Given the description of an element on the screen output the (x, y) to click on. 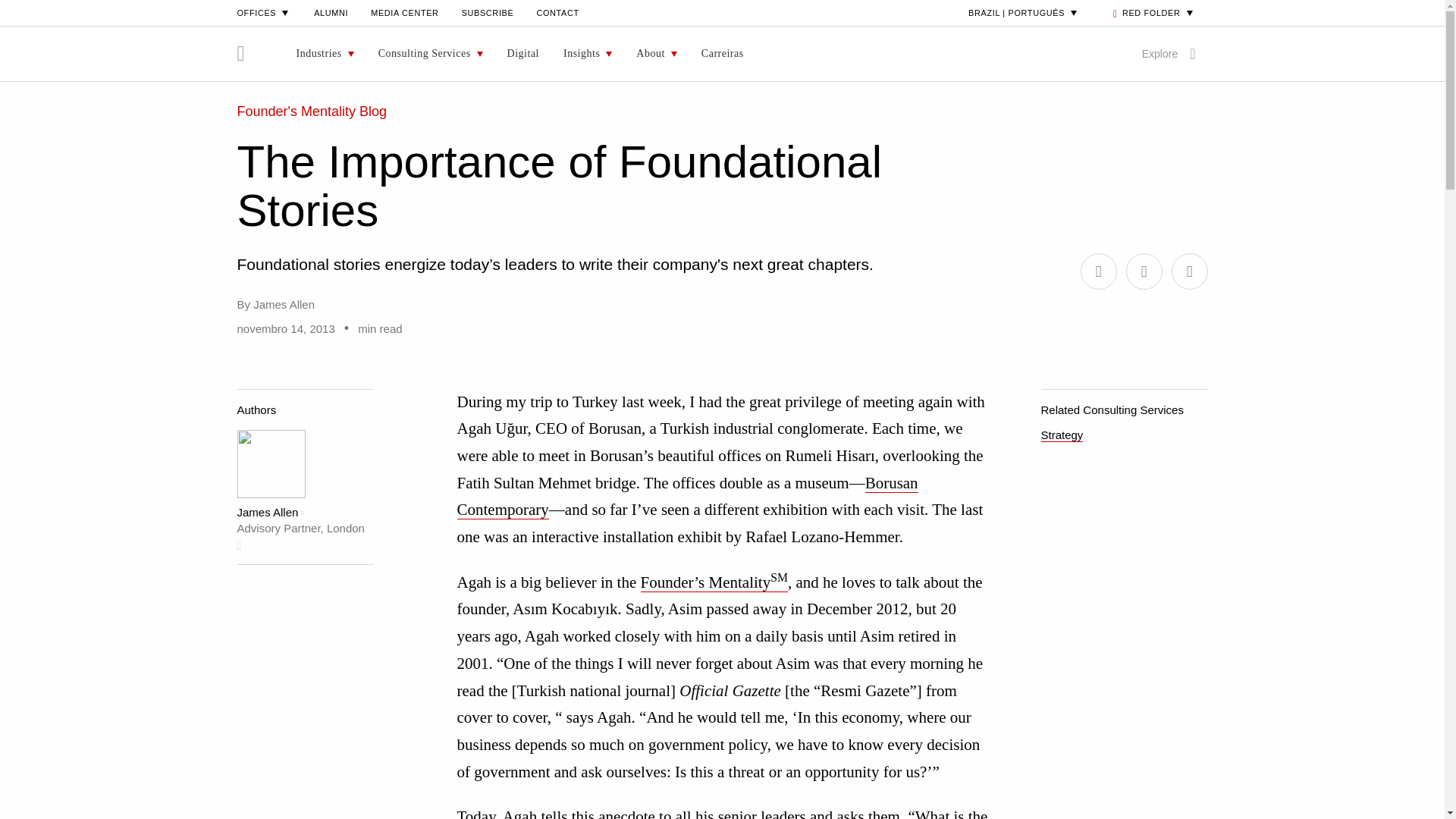
OFFICES (263, 12)
